Given the description of an element on the screen output the (x, y) to click on. 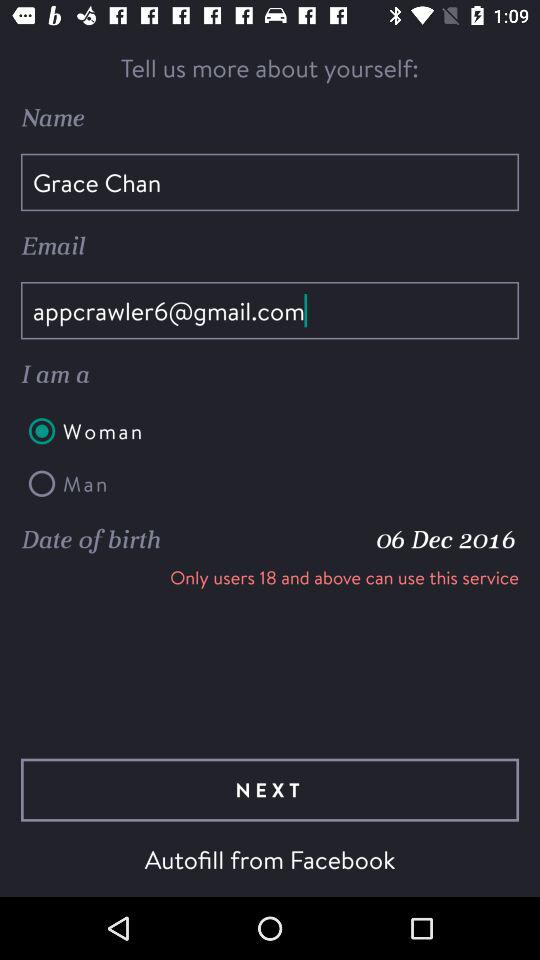
click item above the i am a item (269, 310)
